Given the description of an element on the screen output the (x, y) to click on. 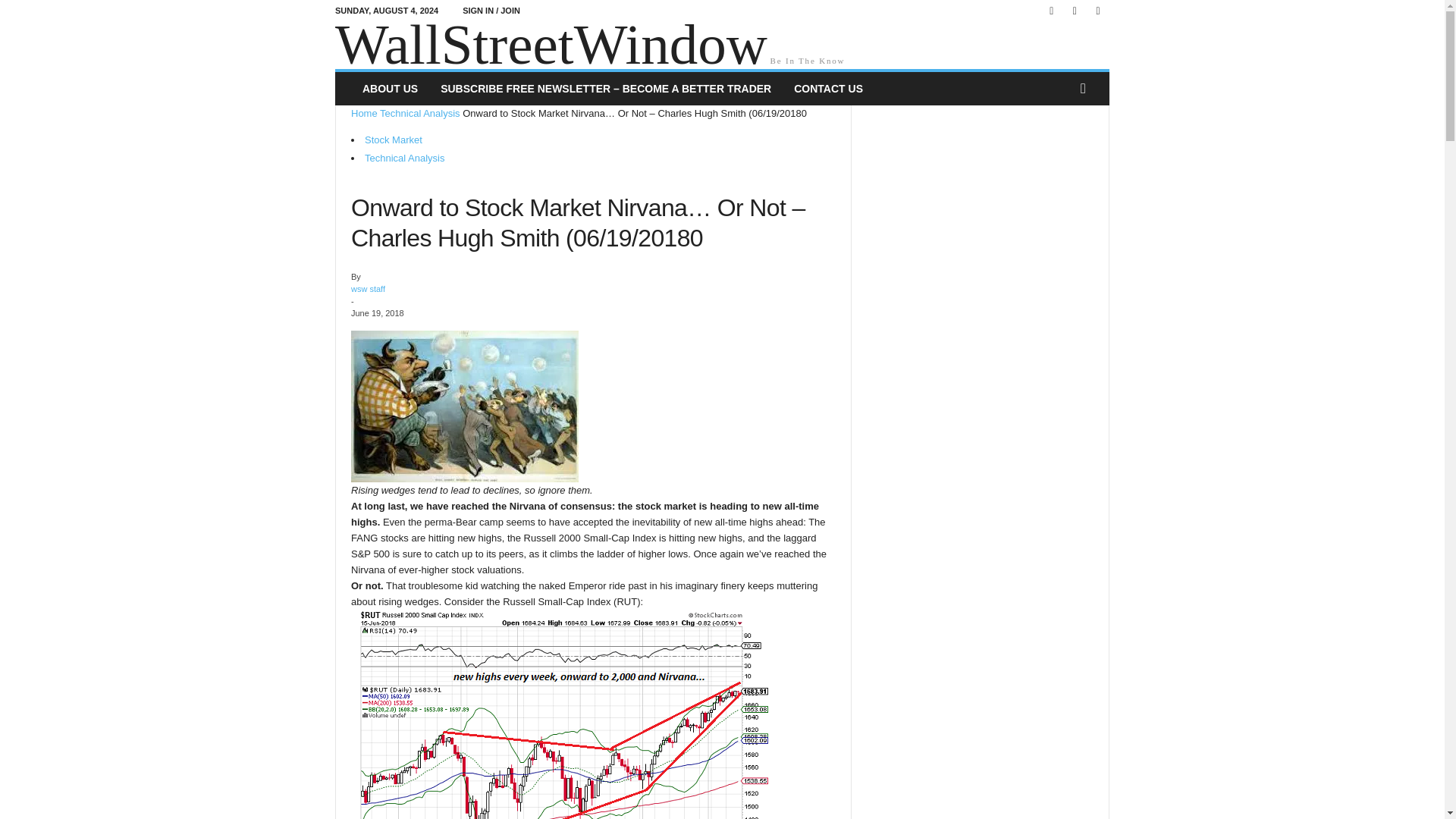
ABOUT US (389, 88)
Home (363, 112)
featured-bubble (464, 406)
View all posts in Technical Analysis (420, 112)
Technical Analysis (405, 157)
Stock Market (393, 139)
CONTACT US (829, 88)
WallStreetWindow Be In The Know (721, 45)
Technical Analysis (420, 112)
wsw staff (367, 288)
